Given the description of an element on the screen output the (x, y) to click on. 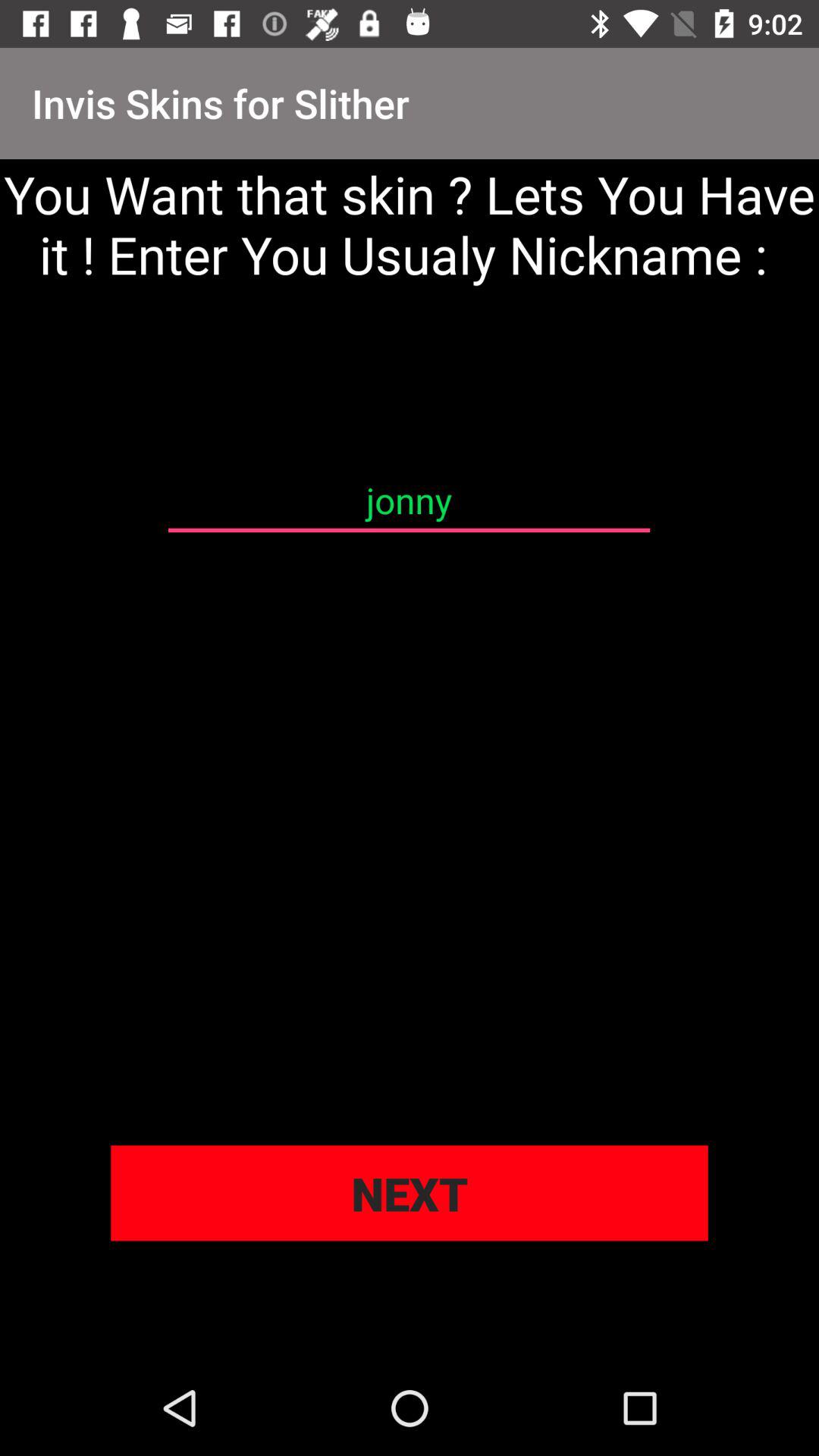
choose icon below you want that item (409, 501)
